Given the description of an element on the screen output the (x, y) to click on. 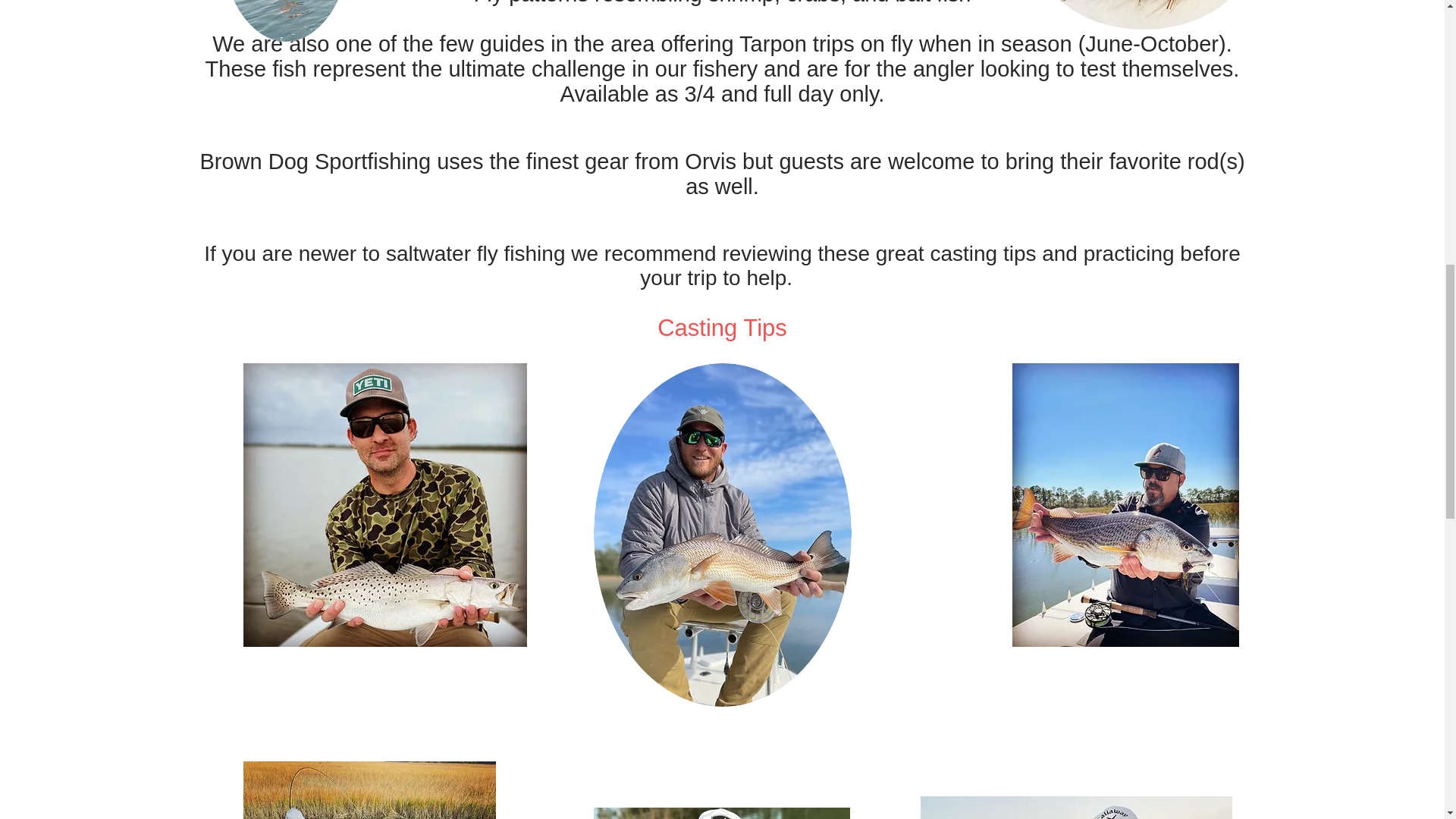
Casting Tips (722, 328)
7E424B19-EC95-4C73-BADC-FDA1F9CA48C0.JPG (720, 813)
image7.jpeg (369, 790)
